Given the description of an element on the screen output the (x, y) to click on. 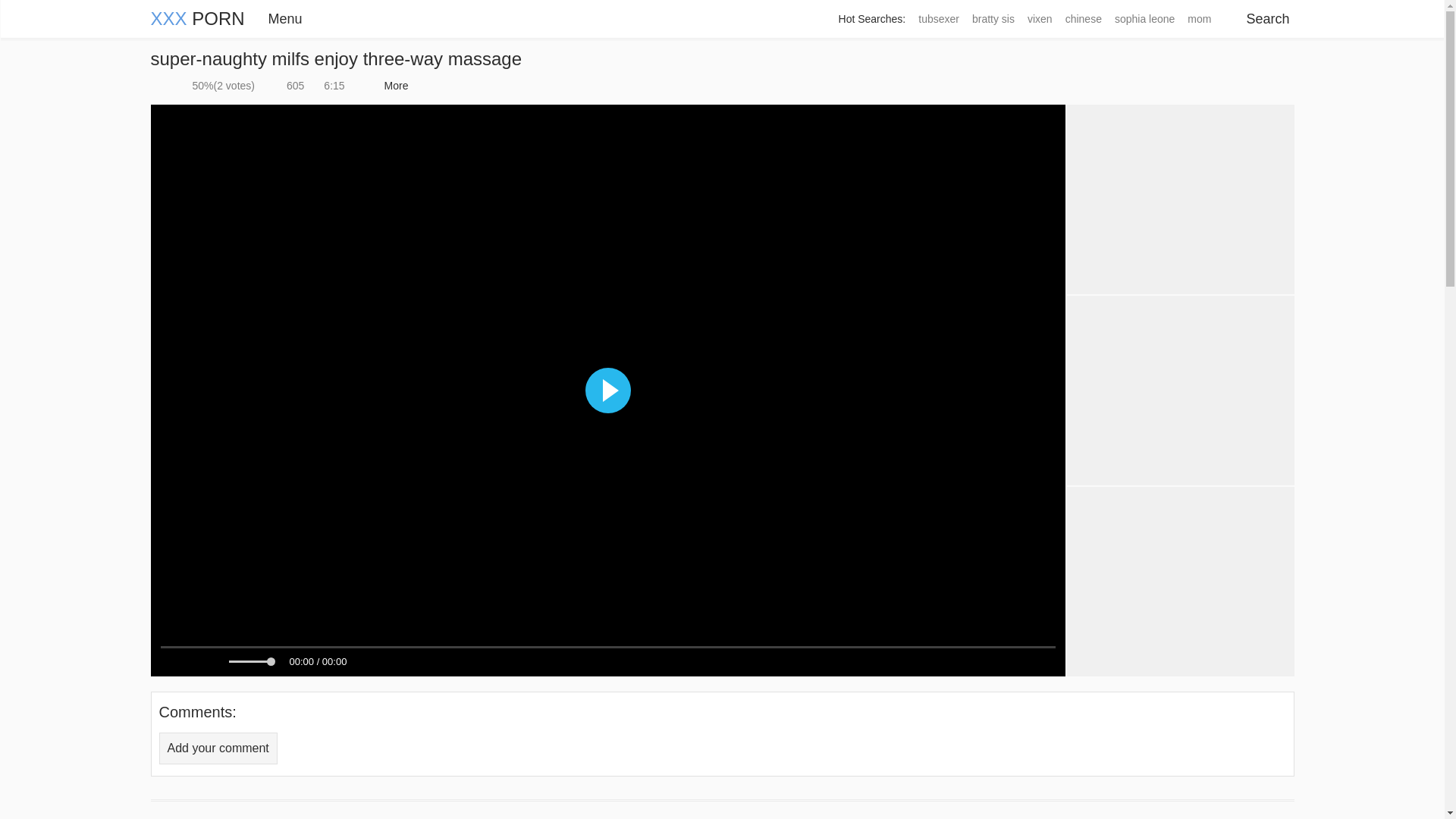
chinese (1083, 19)
mom (1198, 19)
XXX PORN (196, 18)
bratty sis (992, 19)
Show More (393, 85)
vixen (1039, 19)
tubsexer (938, 19)
sophia leone (1143, 19)
